Given the description of an element on the screen output the (x, y) to click on. 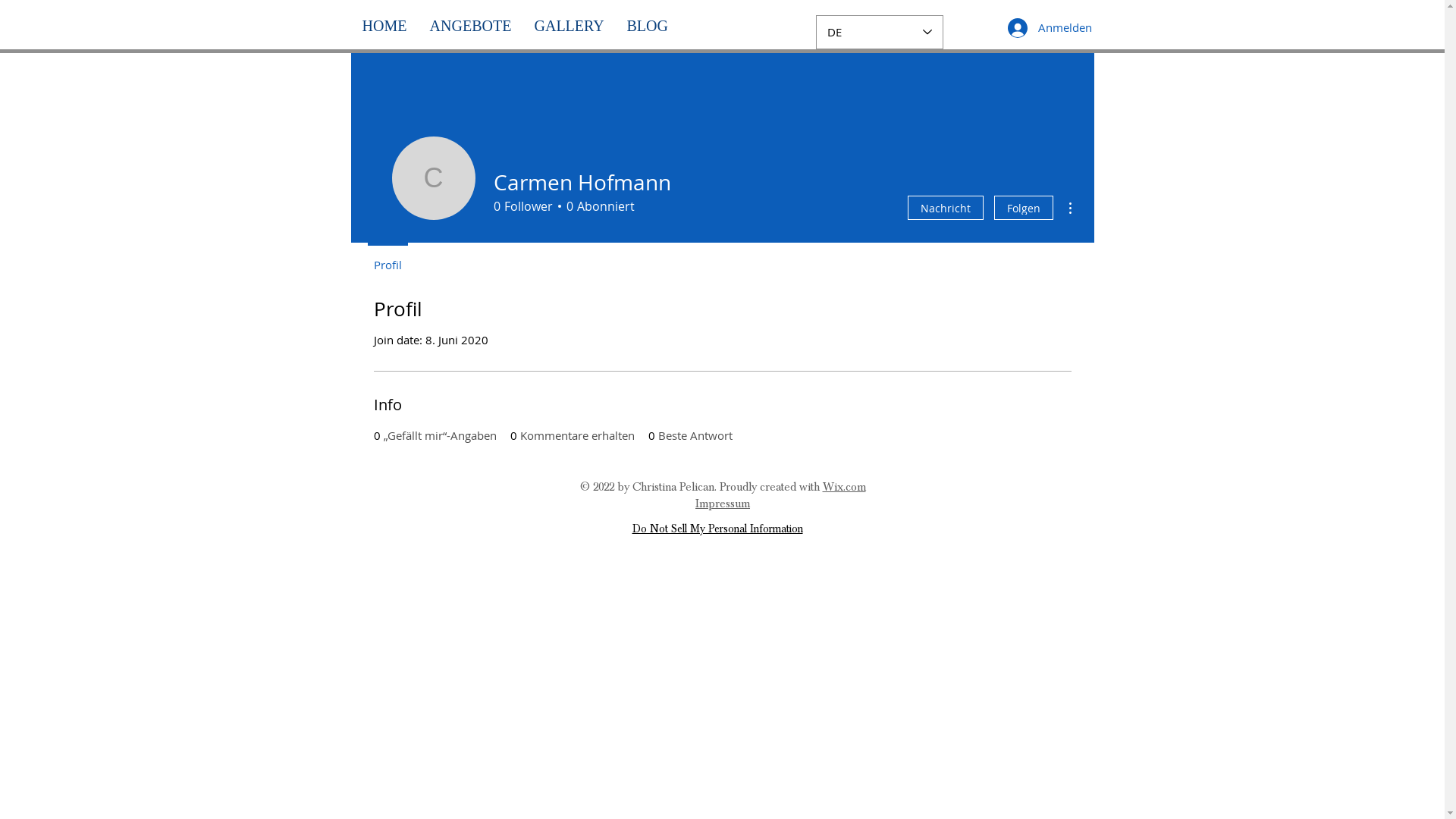
Nachricht Element type: text (944, 207)
Folgen Element type: text (1022, 207)
ANGEBOTE Element type: text (470, 26)
HOME Element type: text (383, 26)
0
Abonniert Element type: text (597, 205)
Wix.com Element type: text (843, 486)
Impressum Element type: text (722, 503)
0
Follower Element type: text (522, 205)
Profil Element type: text (386, 257)
BLOG Element type: text (647, 26)
Do Not Sell My Personal Information Element type: text (717, 528)
Anmelden Element type: text (1040, 27)
GALLERY Element type: text (569, 26)
